Given the description of an element on the screen output the (x, y) to click on. 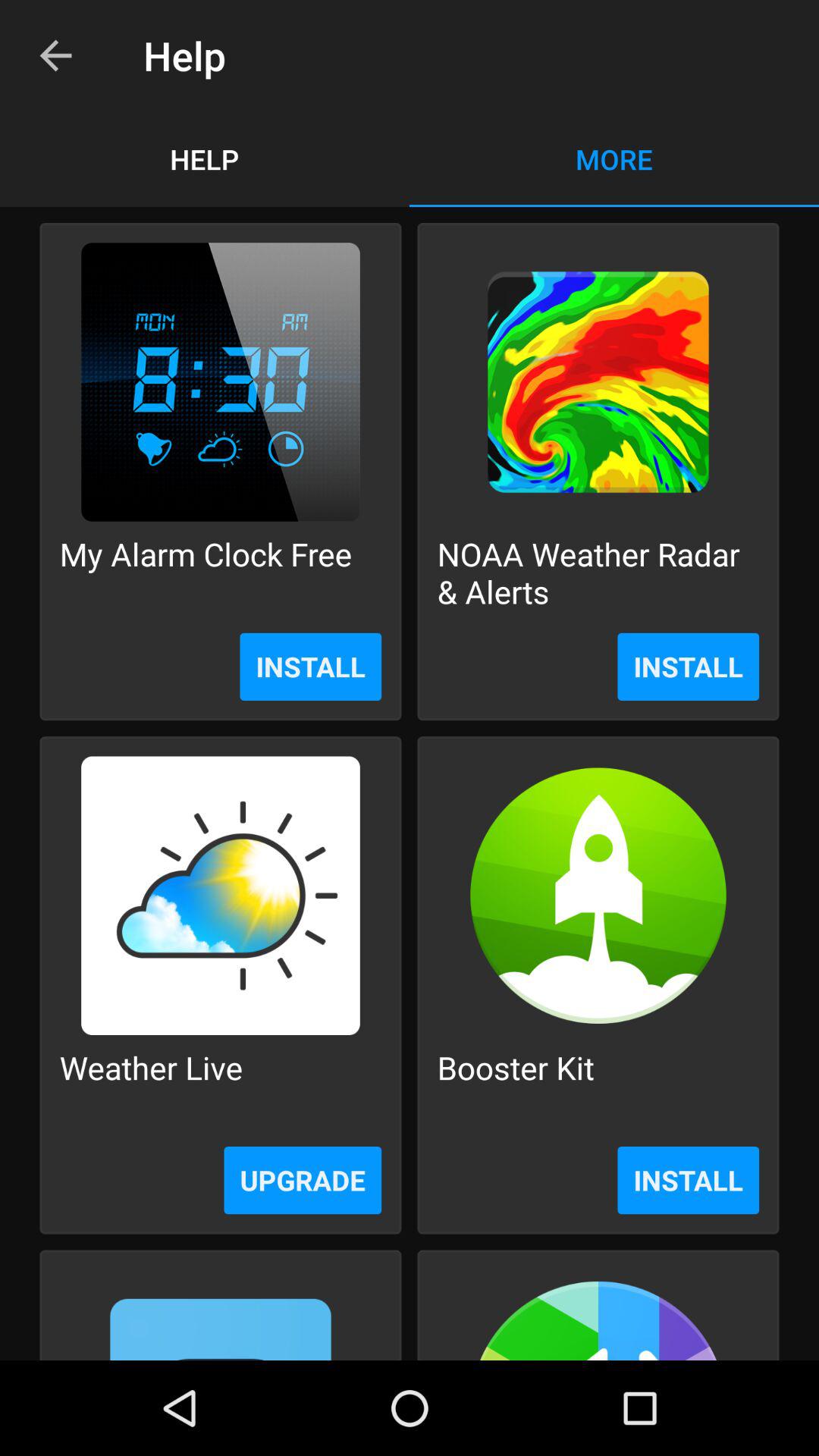
flip until weather live icon (150, 1085)
